Given the description of an element on the screen output the (x, y) to click on. 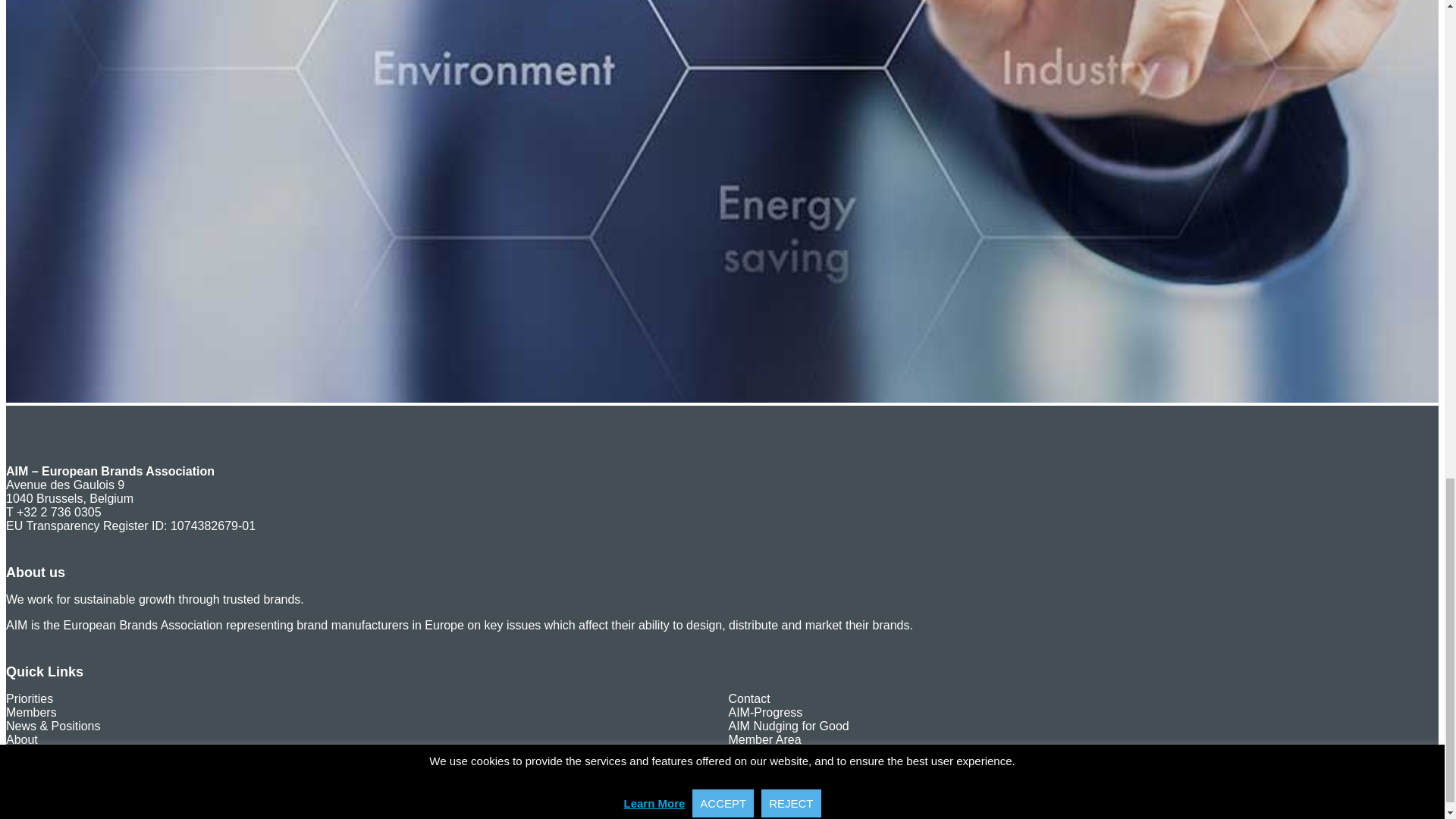
Priorities (28, 698)
